Given the description of an element on the screen output the (x, y) to click on. 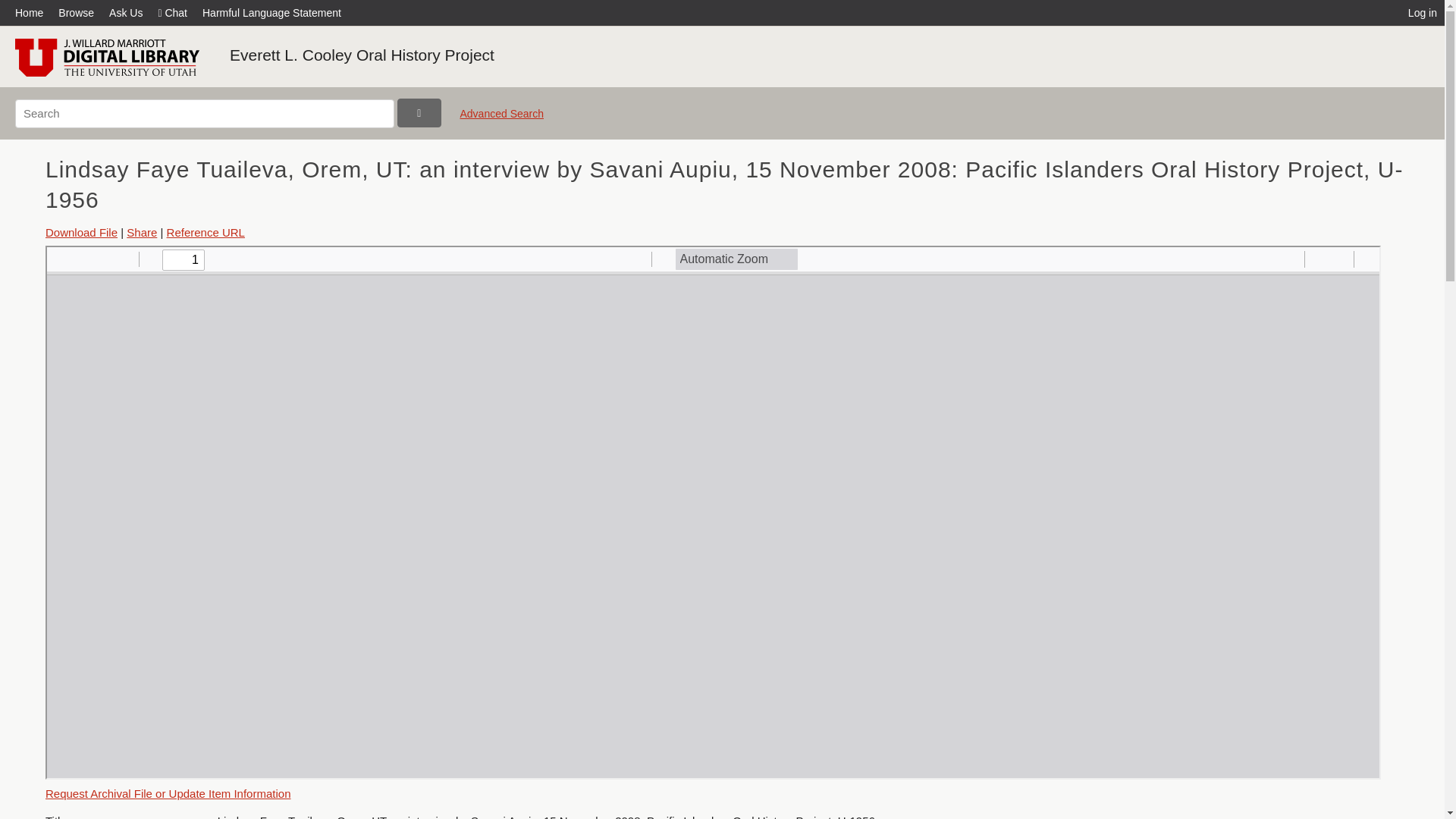
Share (141, 232)
Everett L. Cooley Oral History Project (362, 54)
Browse (75, 12)
Reference URL (205, 232)
Advanced Search (501, 119)
Ask Us (125, 12)
Download File (81, 232)
Harmful Language Statement (272, 12)
Reference URL (205, 232)
Request Archival File or Update Item Information (167, 793)
Home (32, 12)
Chat (172, 12)
Download - 9.84M (81, 232)
Share (141, 232)
